Given the description of an element on the screen output the (x, y) to click on. 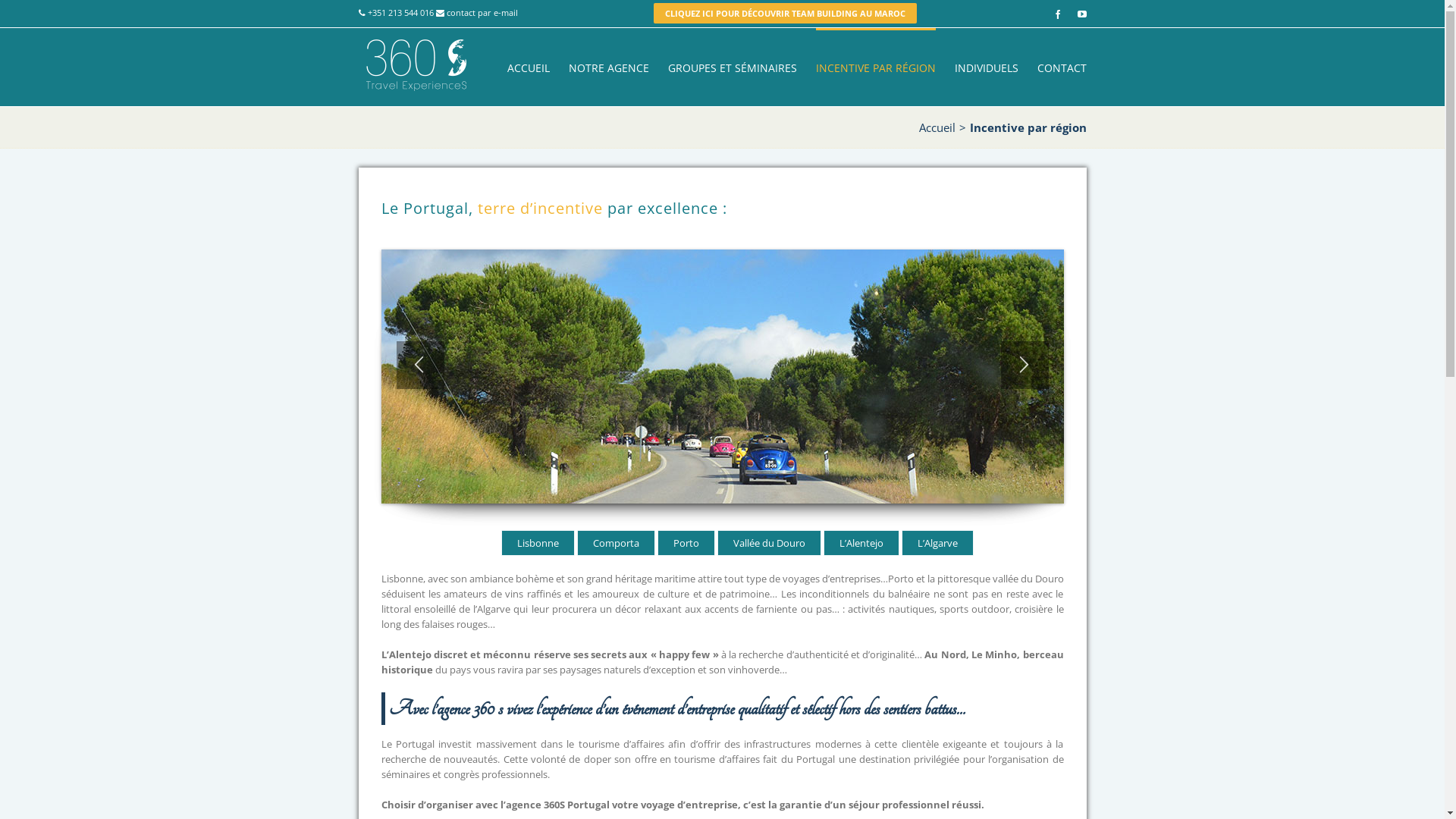
contact par e-mail Element type: text (481, 12)
NOTRE AGENCE Element type: text (608, 67)
Porto Element type: text (686, 542)
ACCUEIL Element type: text (527, 67)
Comporta Element type: text (616, 542)
CONTACT Element type: text (1061, 67)
INDIVIDUELS Element type: text (985, 67)
Accueil Element type: text (937, 126)
Lisbonne Element type: text (537, 542)
